Given the description of an element on the screen output the (x, y) to click on. 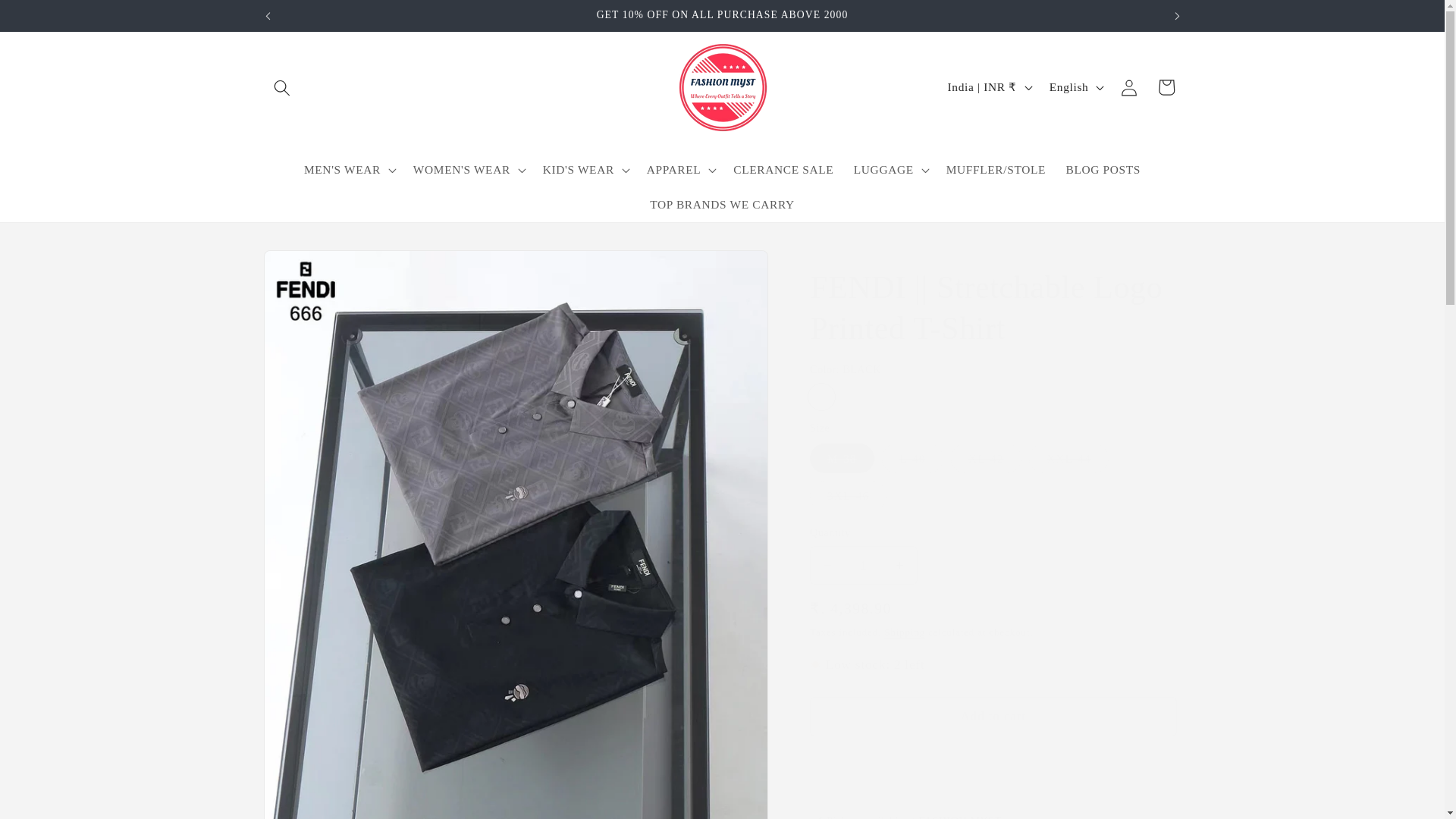
Gray (854, 396)
Skip to content (50, 19)
BLACK (820, 396)
